Given the description of an element on the screen output the (x, y) to click on. 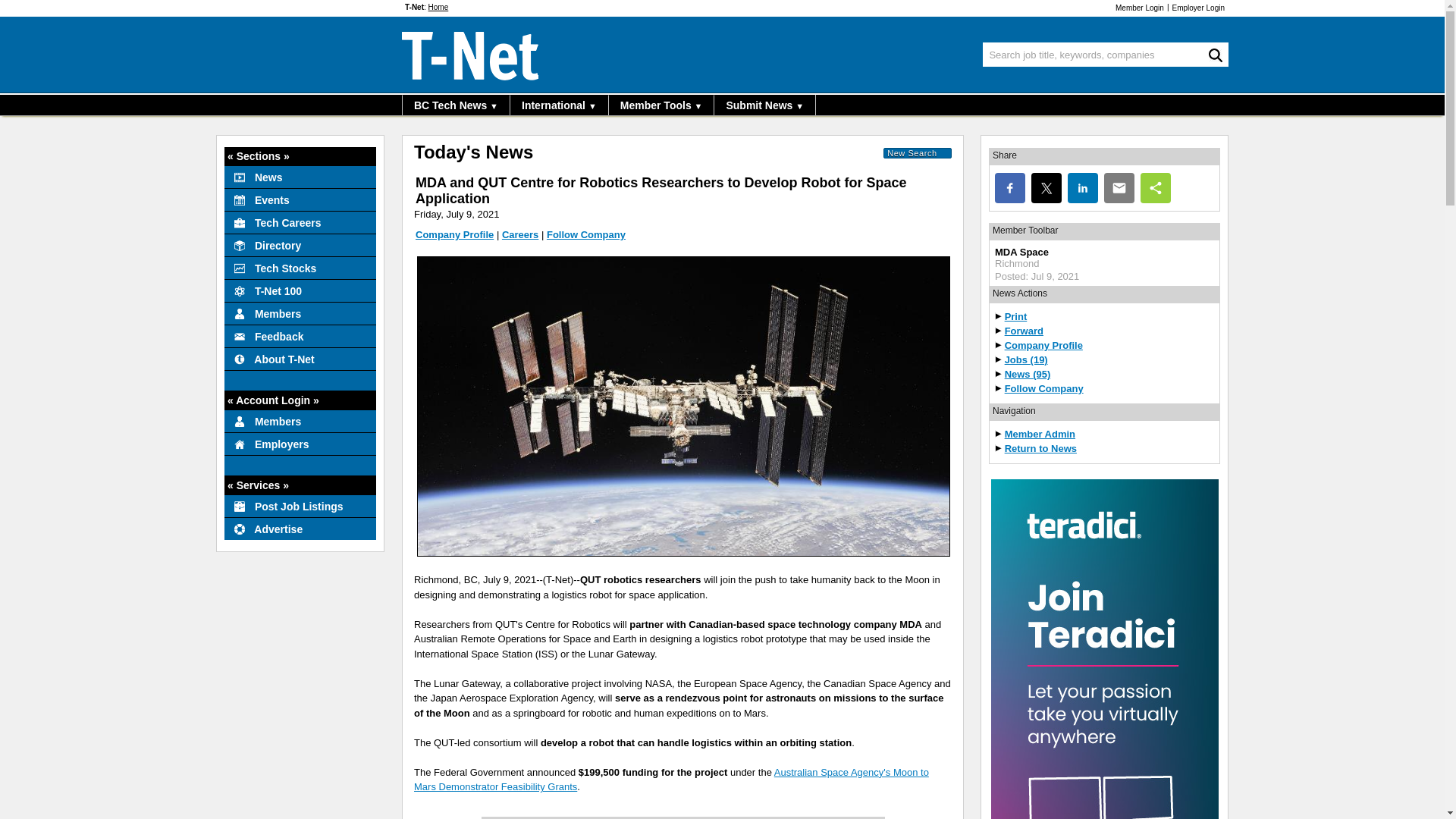
About T-Net (299, 358)
Feedback (299, 335)
Members (299, 313)
Search job title, keywords, companies (1105, 54)
Employer Login (1203, 8)
New Search (917, 153)
Advertise (299, 527)
Employer Login (1203, 8)
Member Login (1134, 8)
Member Login (1134, 8)
MDA Space Company Profile (453, 234)
Directory (299, 244)
Company Profile (453, 234)
Home (438, 7)
Post Job Listings (299, 505)
